Given the description of an element on the screen output the (x, y) to click on. 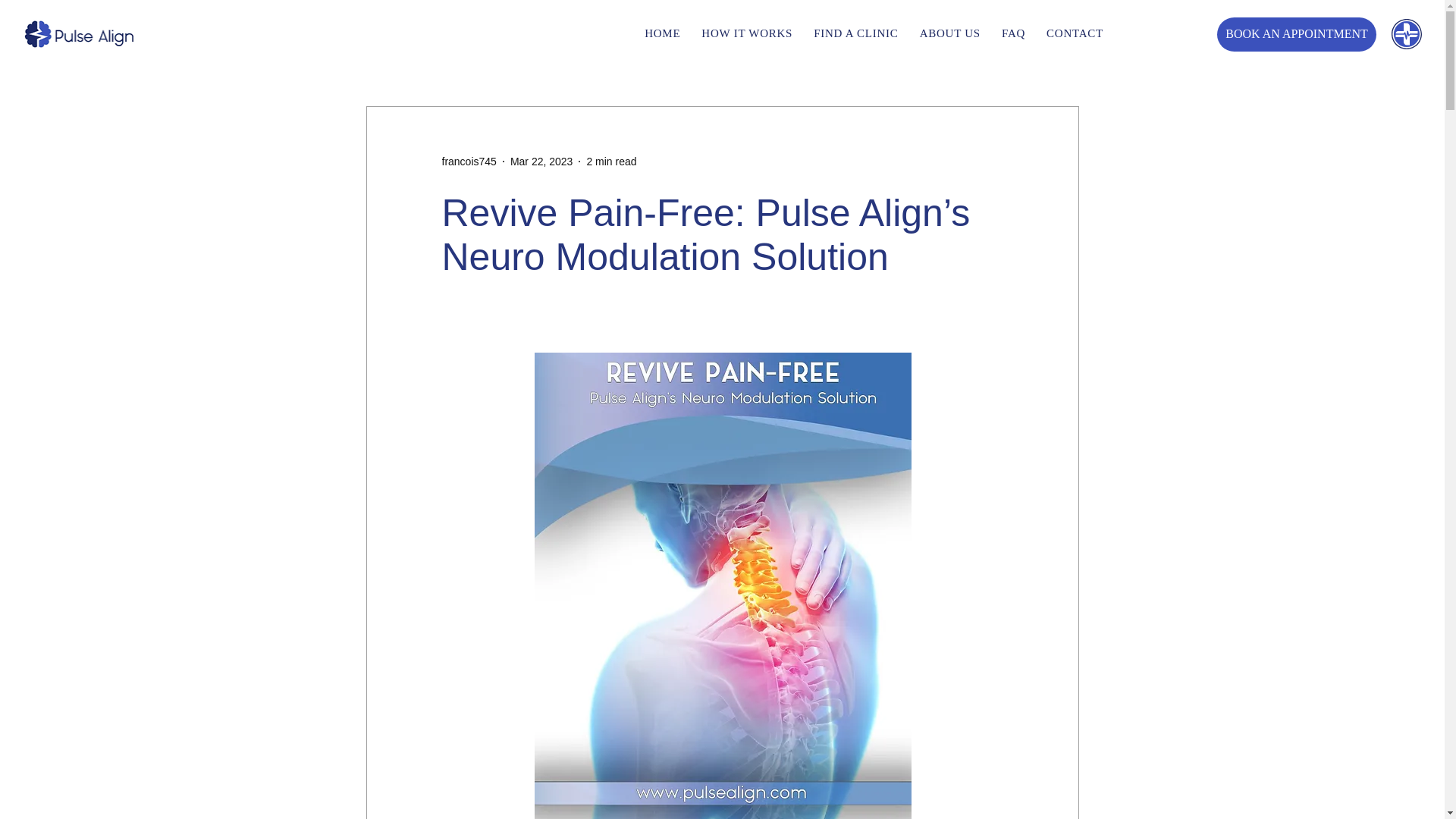
HOME (630, 33)
HOW IT WORKS (662, 33)
Mar 22, 2023 (746, 33)
francois745 (542, 160)
BOOK AN APPOINTMENT (468, 160)
ABOUT US (1296, 33)
CONTACT (950, 33)
FAQ (1074, 33)
FIND A CLINIC (1013, 33)
2 min read (855, 33)
